Given the description of an element on the screen output the (x, y) to click on. 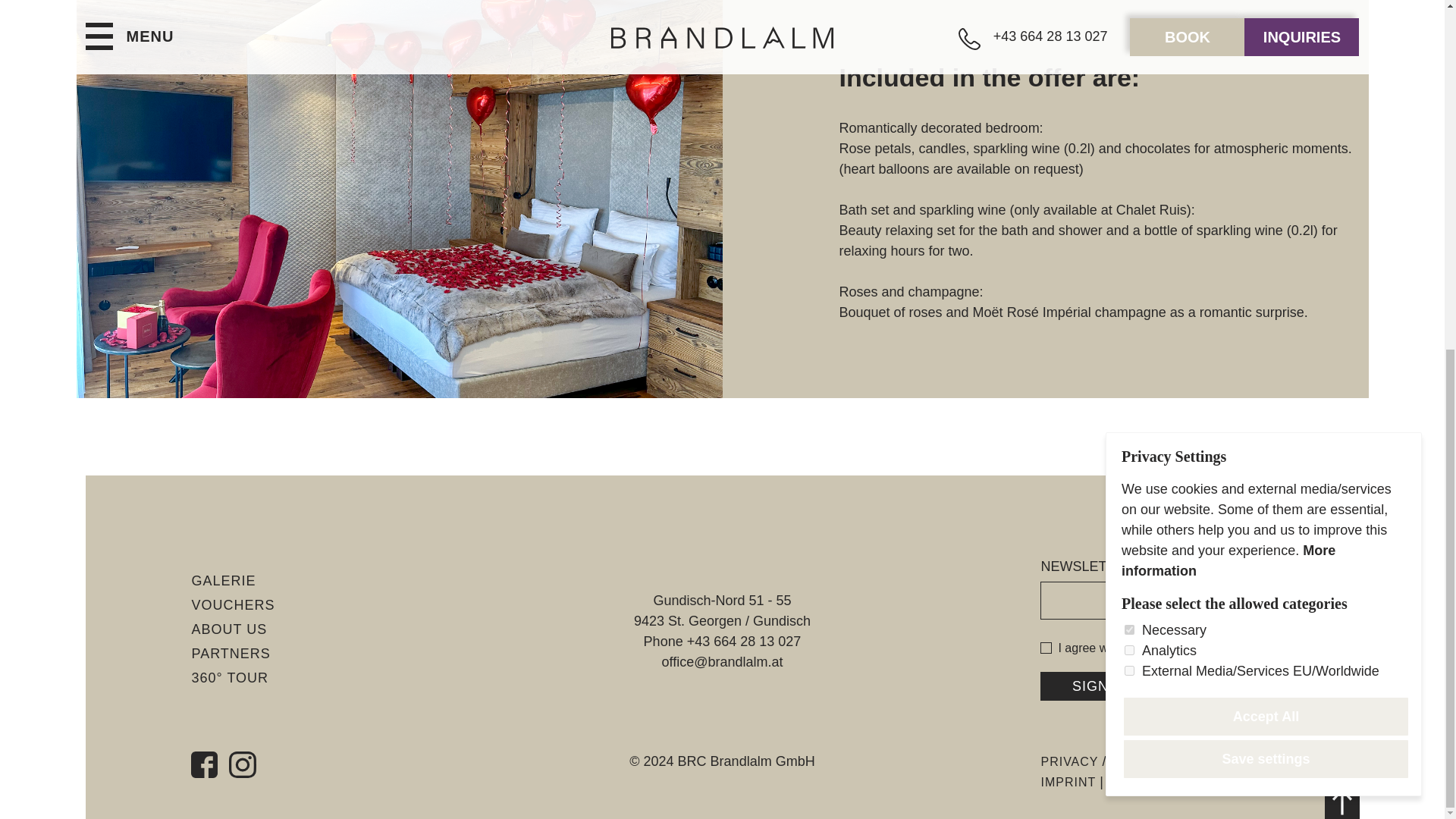
Sign up (1102, 686)
analytics (1129, 45)
PARTNERS (229, 652)
Analysis cookies help us to constantly improve our website. (1168, 46)
VOUCHERS (232, 604)
necessary (1129, 25)
GALERIE (223, 580)
ABOUT US (228, 628)
3rdparty (1129, 66)
